Given the description of an element on the screen output the (x, y) to click on. 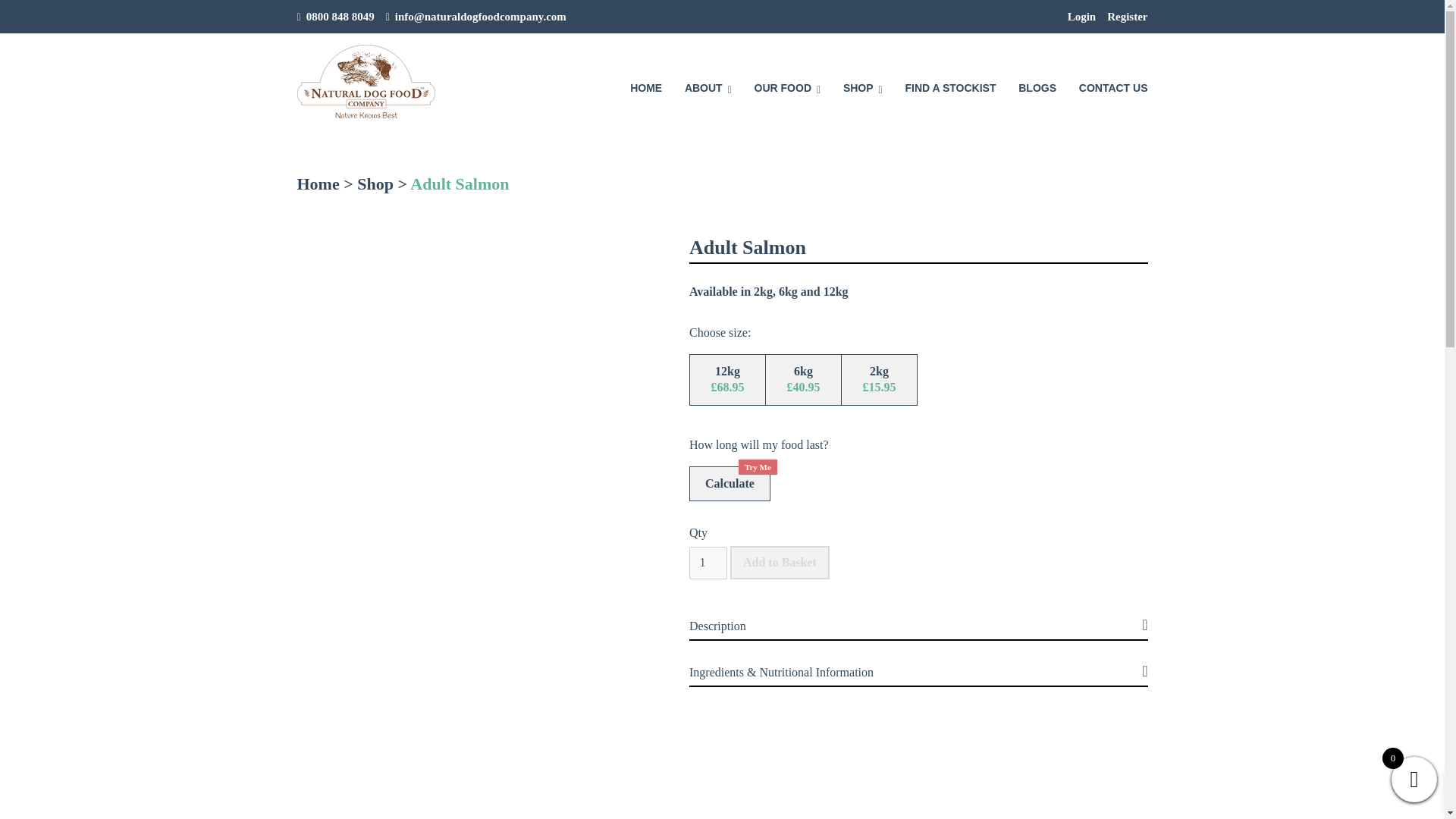
Login (1081, 16)
Add to Basket (779, 562)
FIND A STOCKIST (949, 80)
OUR FOOD (787, 80)
ABOUT (708, 80)
Shop (374, 183)
CONTACT US (1113, 80)
1 (707, 562)
0800 848 8049 (339, 16)
Home (318, 183)
Register (1126, 16)
